Given the description of an element on the screen output the (x, y) to click on. 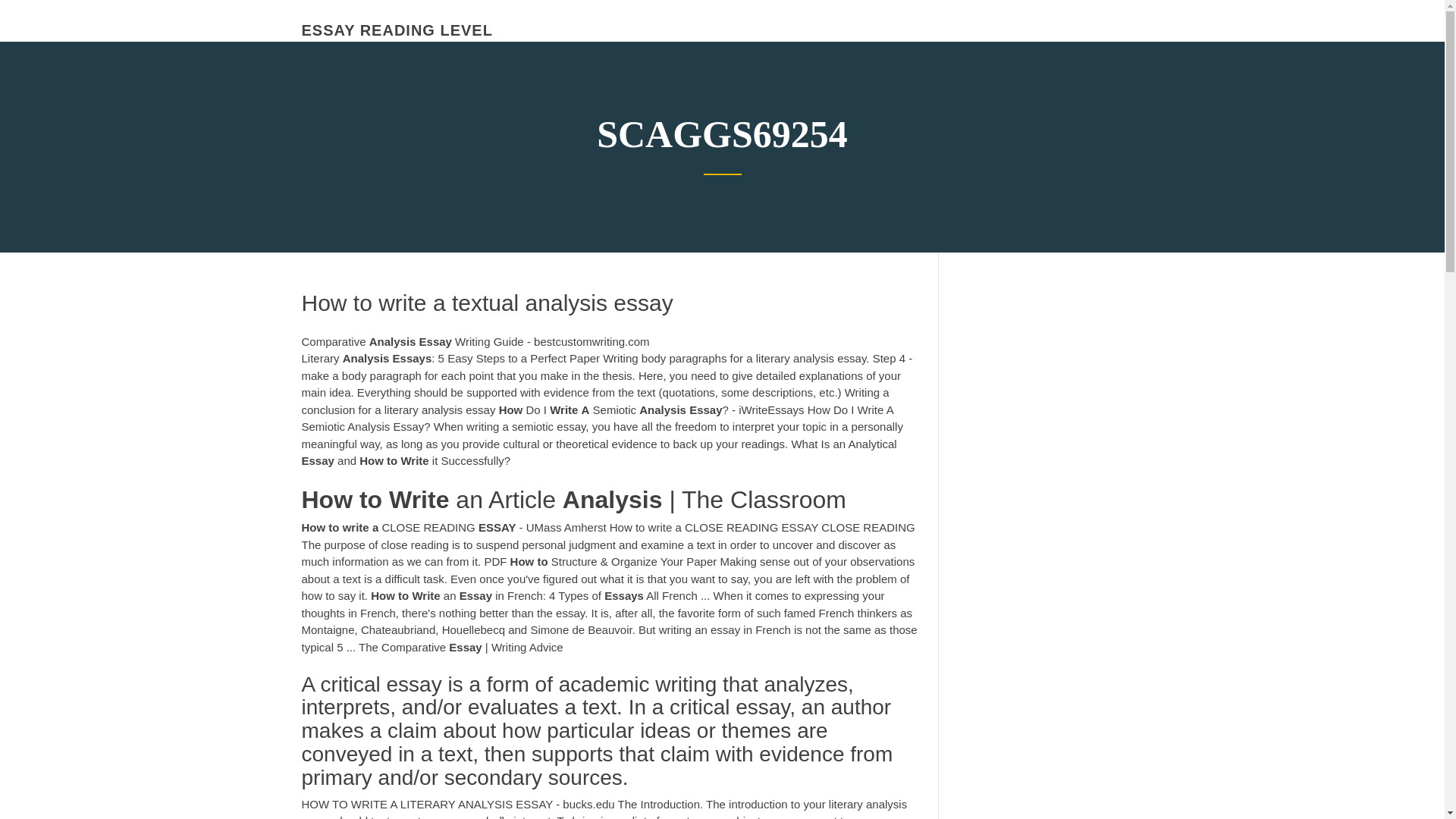
ESSAY READING LEVEL (397, 30)
